Given the description of an element on the screen output the (x, y) to click on. 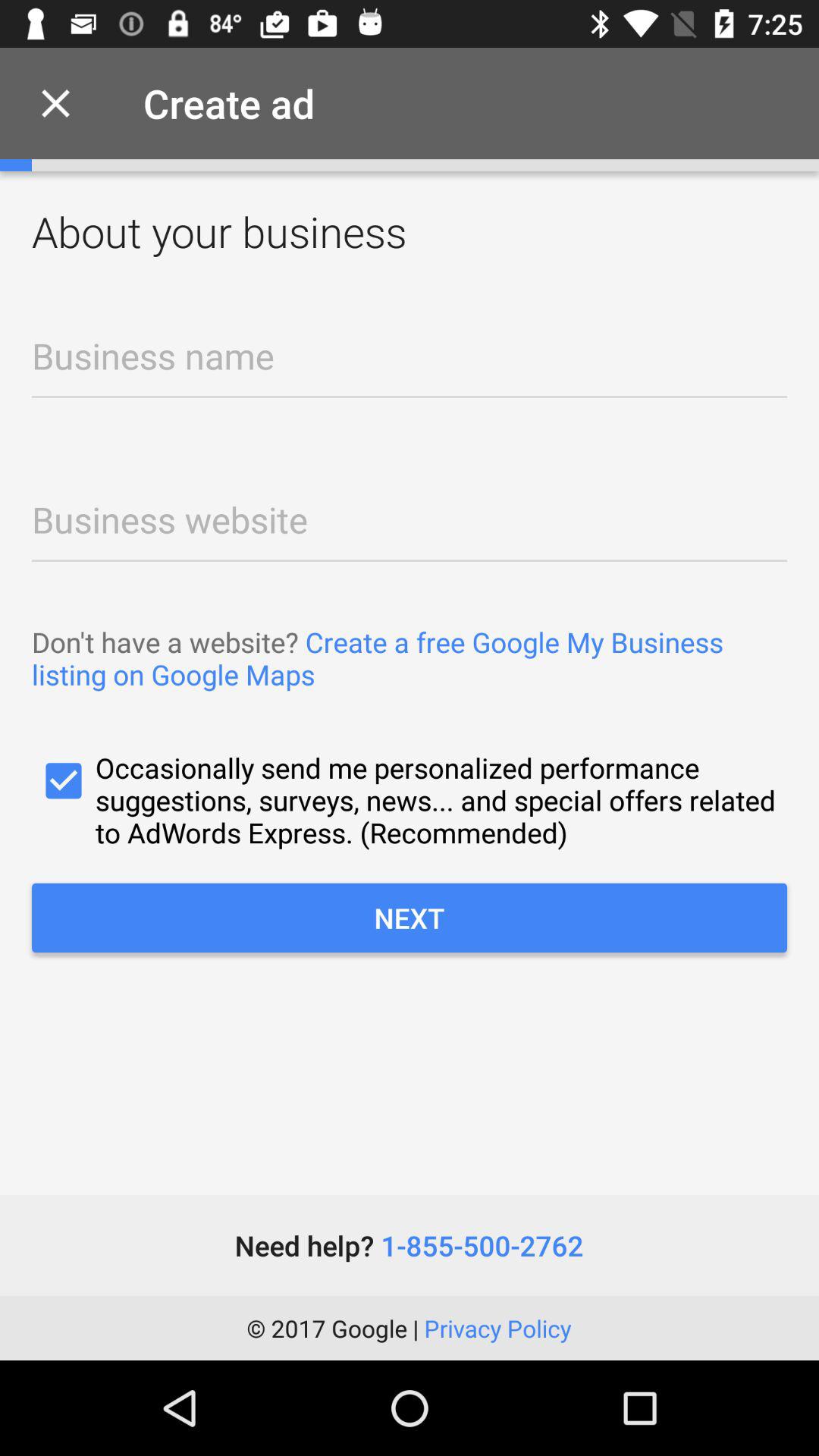
enter business url (409, 515)
